Given the description of an element on the screen output the (x, y) to click on. 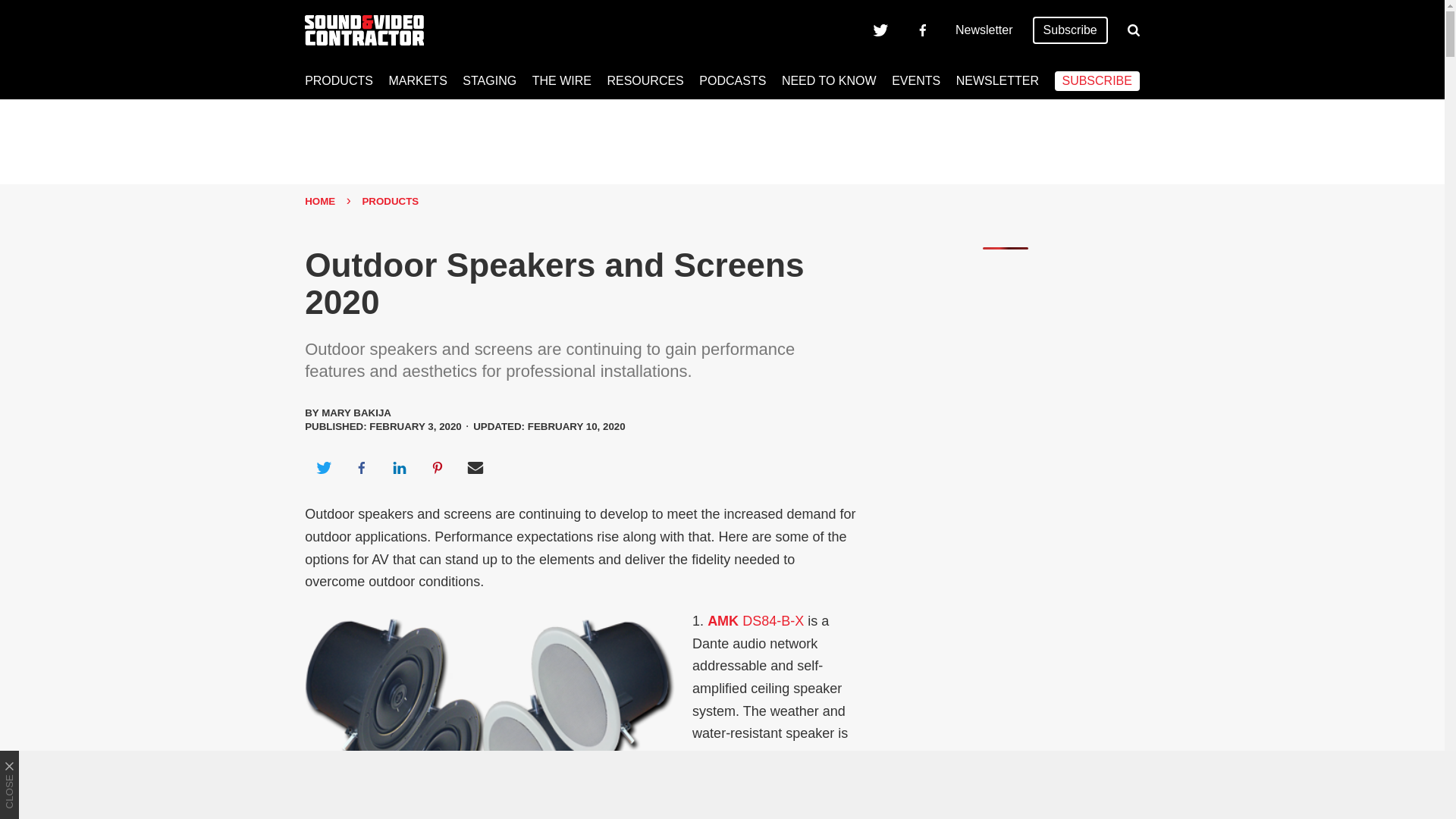
Share on LinkedIn (399, 467)
Share on Twitter (323, 467)
Share on Facebook (361, 467)
Share via Email (476, 467)
Share on Pinterest (438, 467)
